Given the description of an element on the screen output the (x, y) to click on. 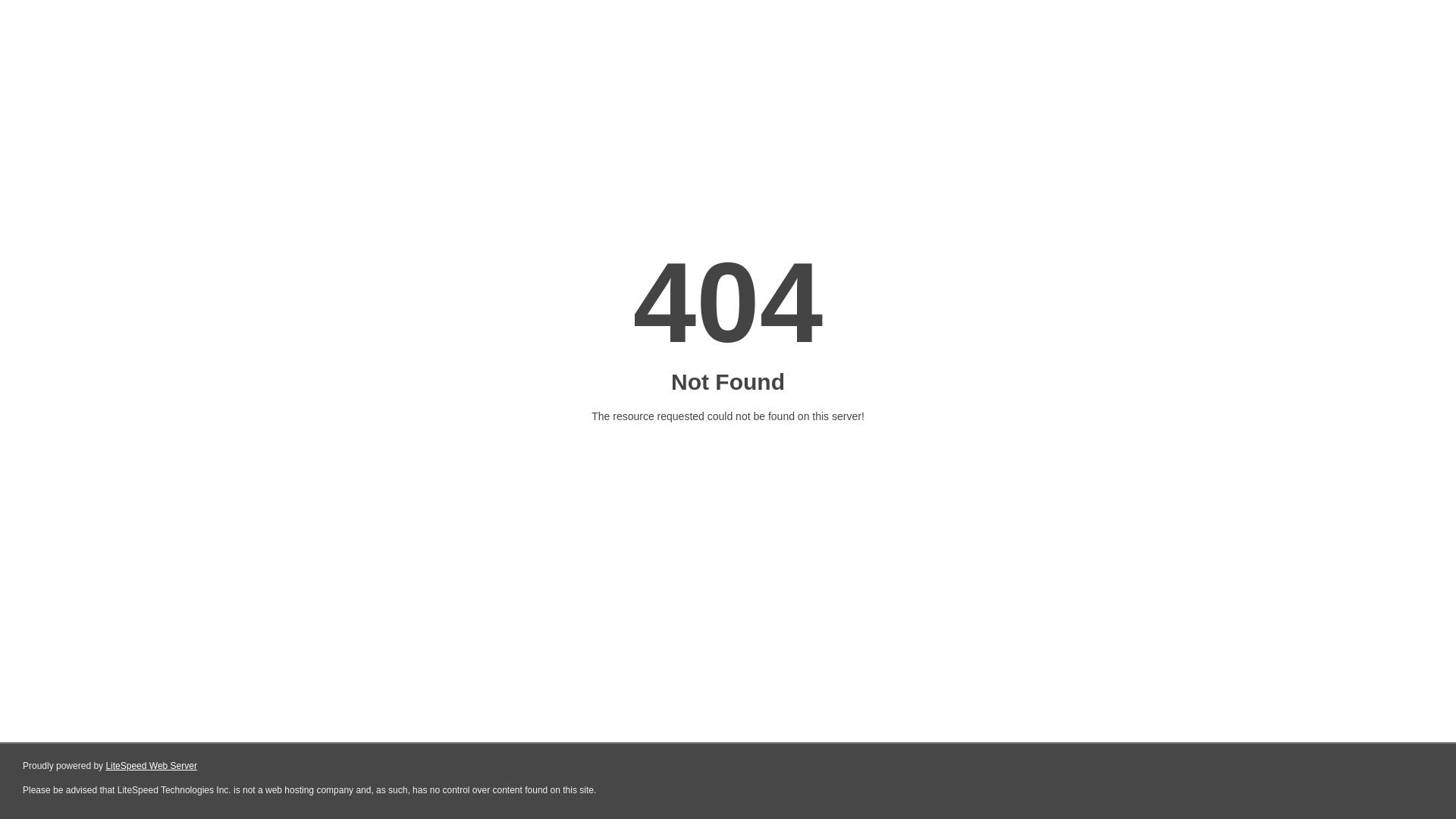
LiteSpeed Web Server Element type: text (151, 765)
